Given the description of an element on the screen output the (x, y) to click on. 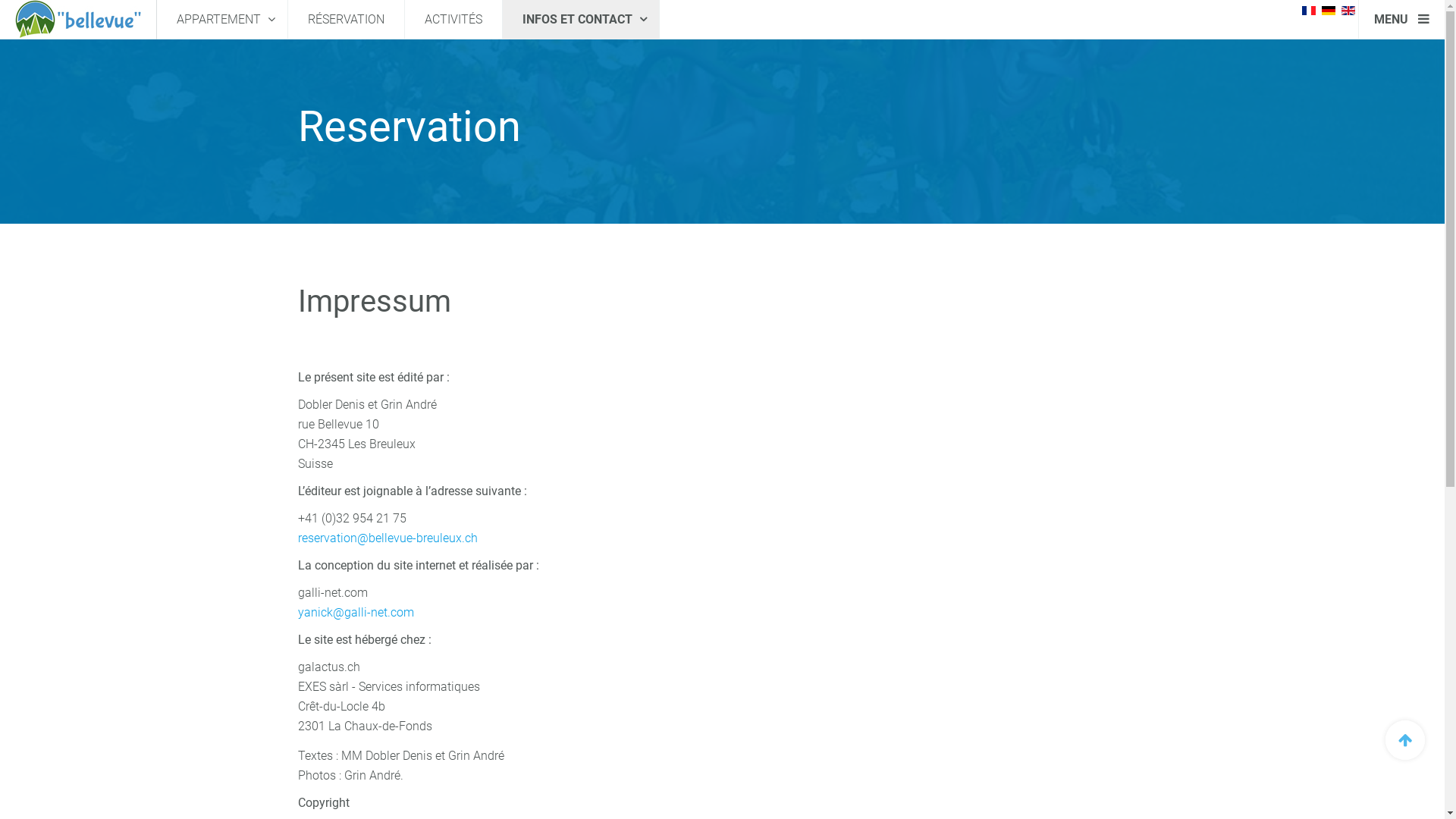
reservation@bellevue-breuleux.ch Element type: text (386, 537)
English (UK) Element type: hover (1348, 10)
Back to Top Element type: hover (1404, 739)
French Element type: hover (1308, 10)
yanick@galli-net.com Element type: text (355, 612)
APPARTEMENT Element type: text (221, 19)
German Element type: hover (1328, 10)
INFOS ET CONTACT Element type: text (580, 19)
Bellevue-Breuleux Element type: hover (78, 19)
MENU Element type: text (1401, 19)
